Given the description of an element on the screen output the (x, y) to click on. 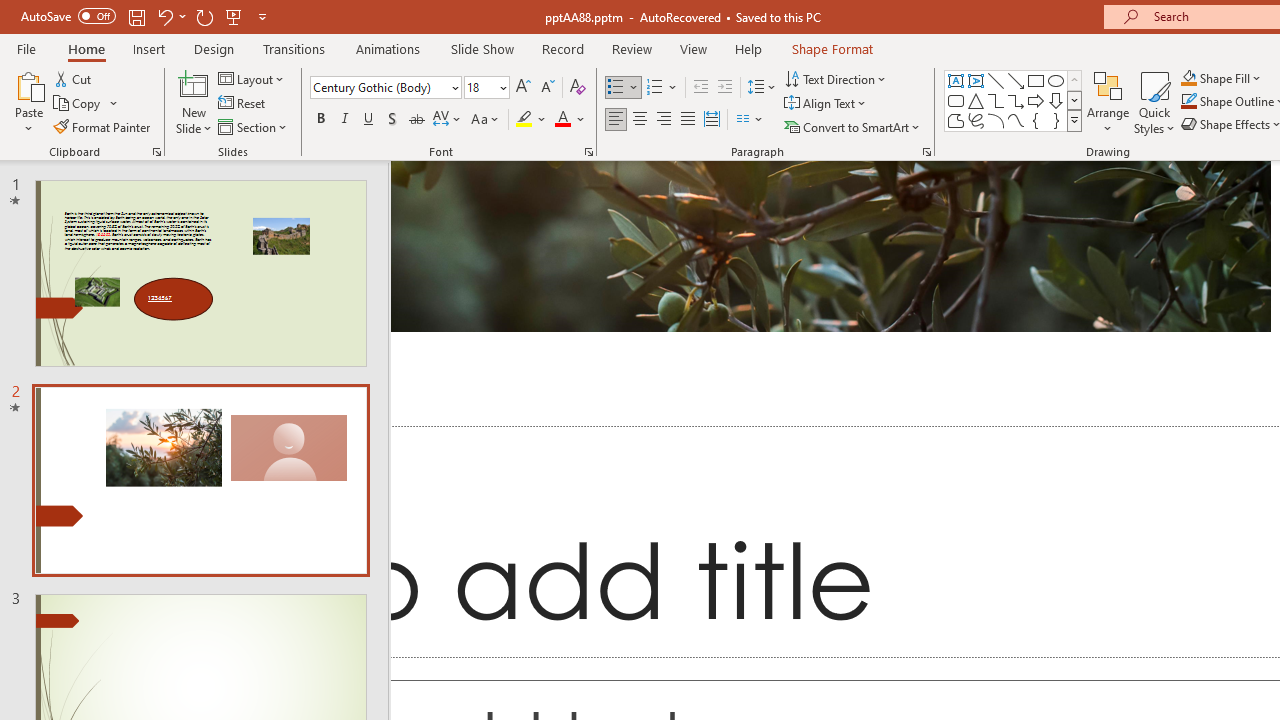
Home (86, 48)
Row Down (1074, 100)
Line Spacing (762, 87)
Italic (344, 119)
Numbering (661, 87)
Quick Access Toolbar (145, 16)
Class: NetUIImage (1075, 120)
Line (995, 80)
Character Spacing (447, 119)
Design (214, 48)
